Given the description of an element on the screen output the (x, y) to click on. 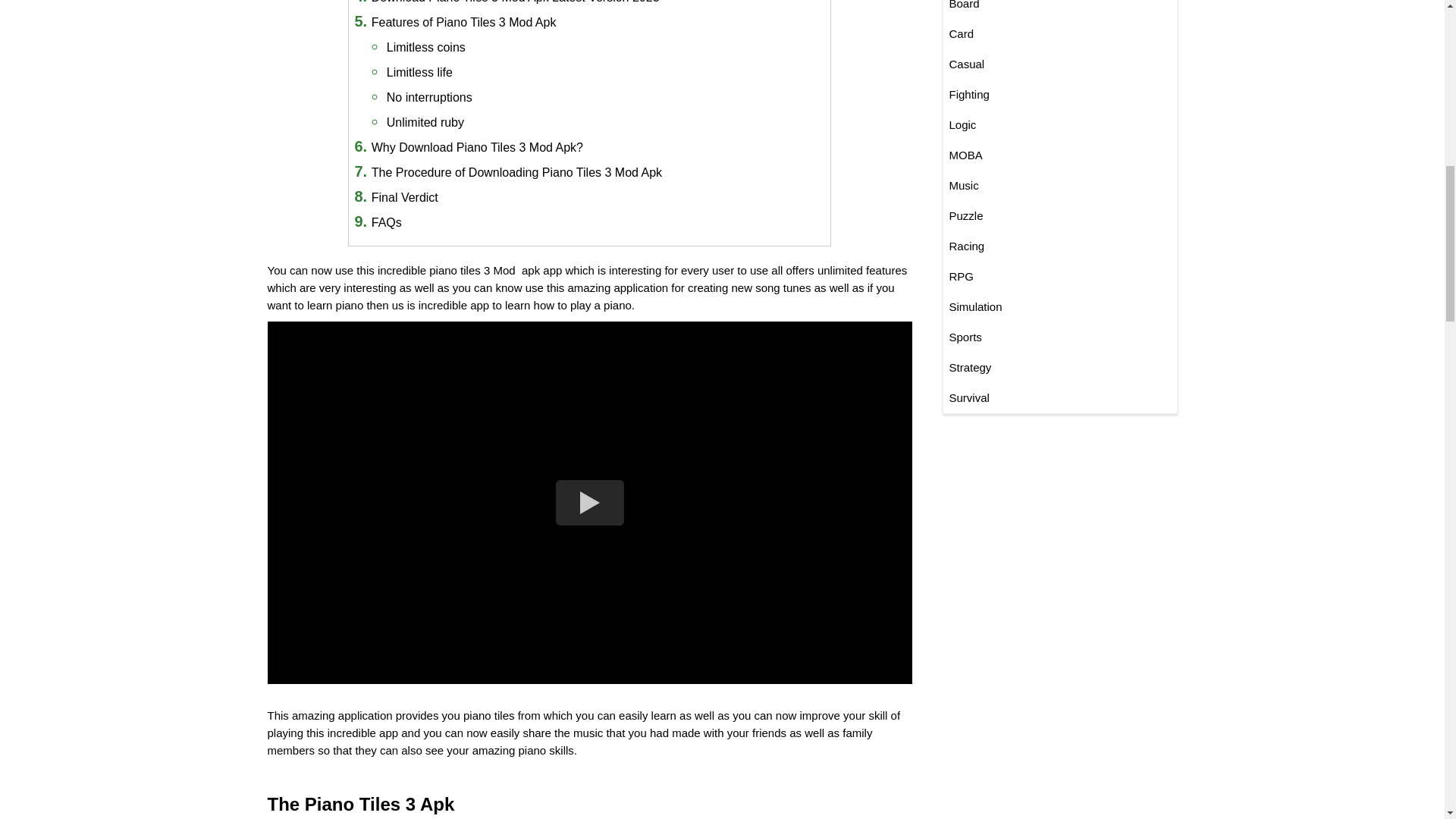
Limitless life (419, 72)
Why Download Piano Tiles 3 Mod Apk? (477, 146)
Final Verdict (404, 196)
Features of Piano Tiles 3 Mod Apk (463, 21)
FAQs (386, 222)
Download Piano Tiles 3 Mod Apk Latest Version 2023 (515, 2)
Limitless coins (426, 47)
The Procedure of Downloading Piano Tiles 3 Mod Apk (516, 172)
No interruptions (429, 97)
Unlimited ruby (425, 122)
